Given the description of an element on the screen output the (x, y) to click on. 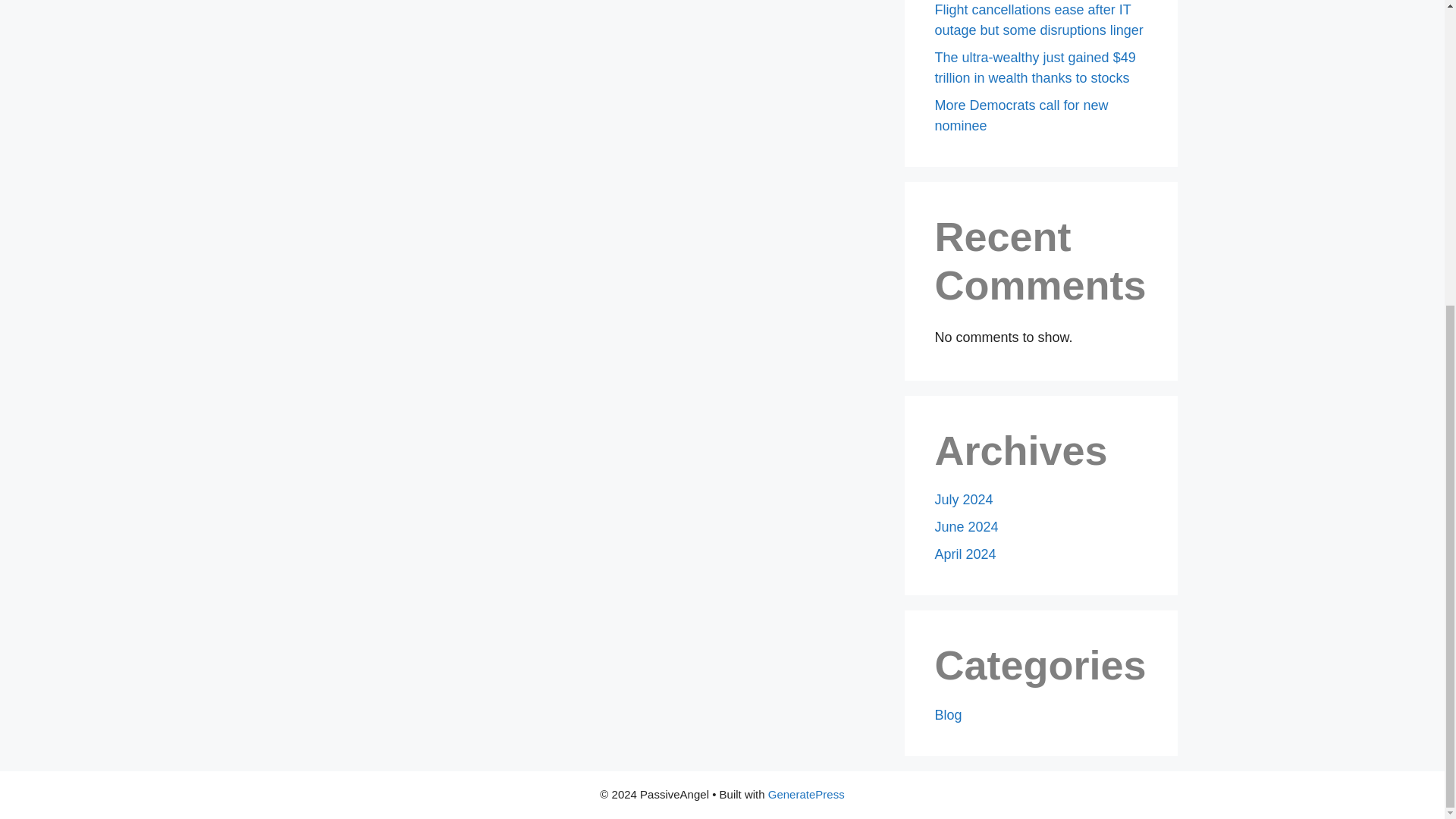
July 2024 (963, 499)
June 2024 (965, 526)
GeneratePress (806, 793)
April 2024 (964, 554)
Blog (947, 714)
More Democrats call for new nominee (1021, 115)
